Given the description of an element on the screen output the (x, y) to click on. 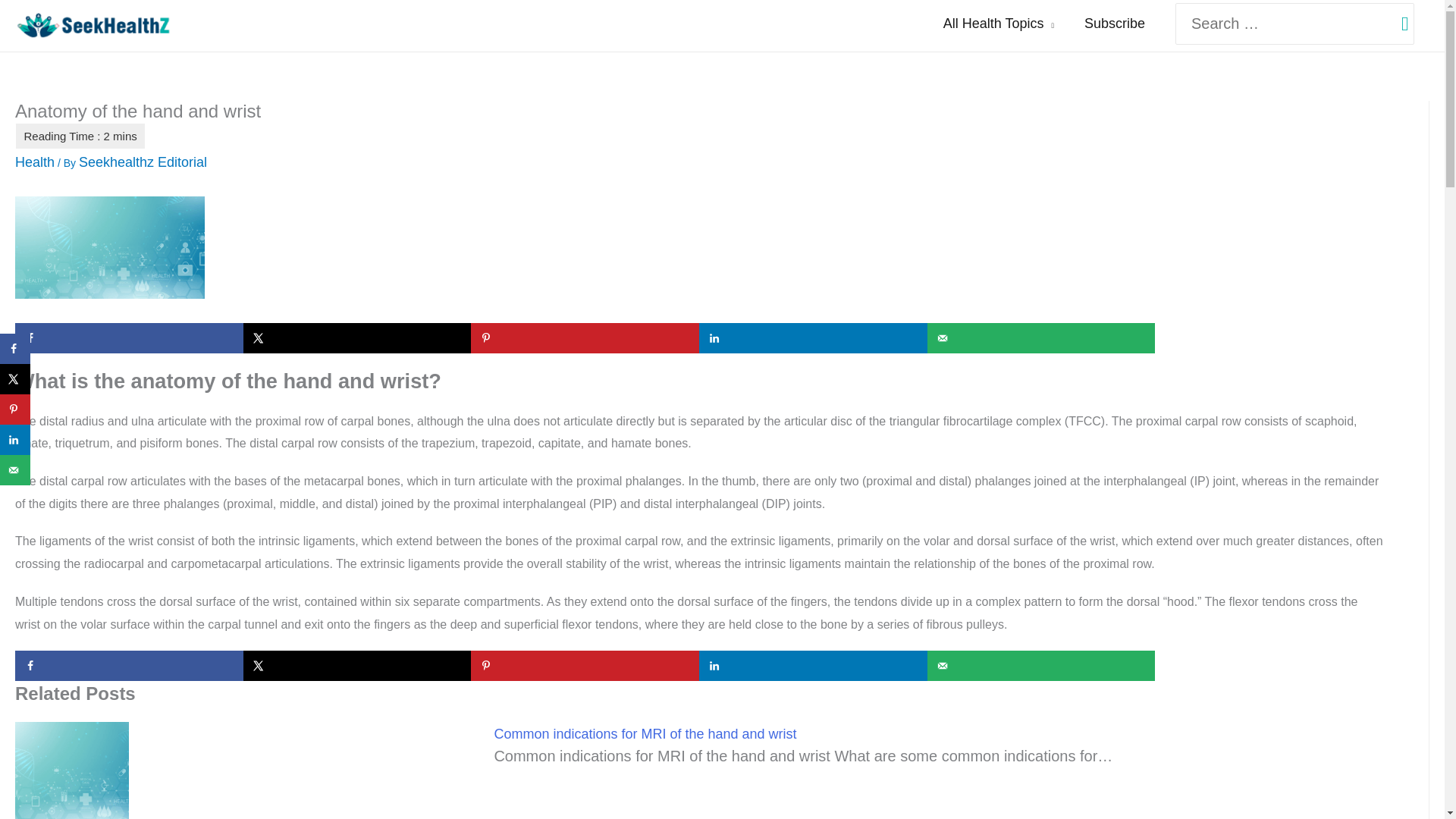
Send over email (1041, 665)
All Health Topics (998, 23)
Send over email (15, 470)
Share on X (15, 378)
Health (34, 161)
Share on LinkedIn (812, 665)
Share on Facebook (15, 348)
Save to Pinterest (584, 665)
Share on Facebook (128, 665)
Seekhealthz Editorial (142, 161)
Send over email (1041, 337)
Share on Facebook (128, 337)
Share on X (357, 665)
Save to Pinterest (15, 409)
View all posts by Seekhealthz Editorial (142, 161)
